Given the description of an element on the screen output the (x, y) to click on. 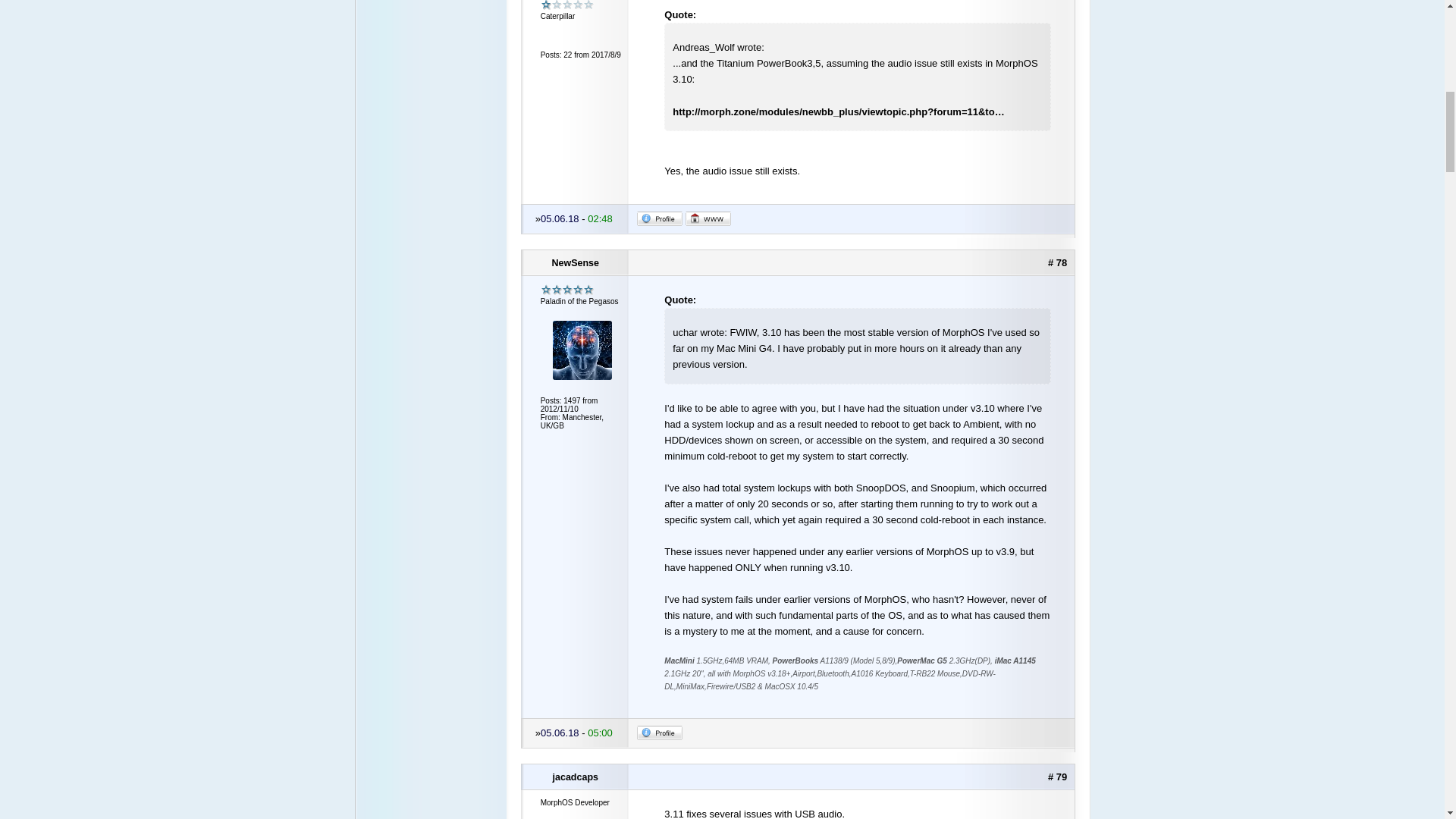
Caterpillar (567, 5)
Show alone this post... (1057, 262)
Show alone this post... (1057, 776)
jacadcaps (575, 777)
NewSense (575, 262)
Paladin of the Pegasos (567, 289)
